Given the description of an element on the screen output the (x, y) to click on. 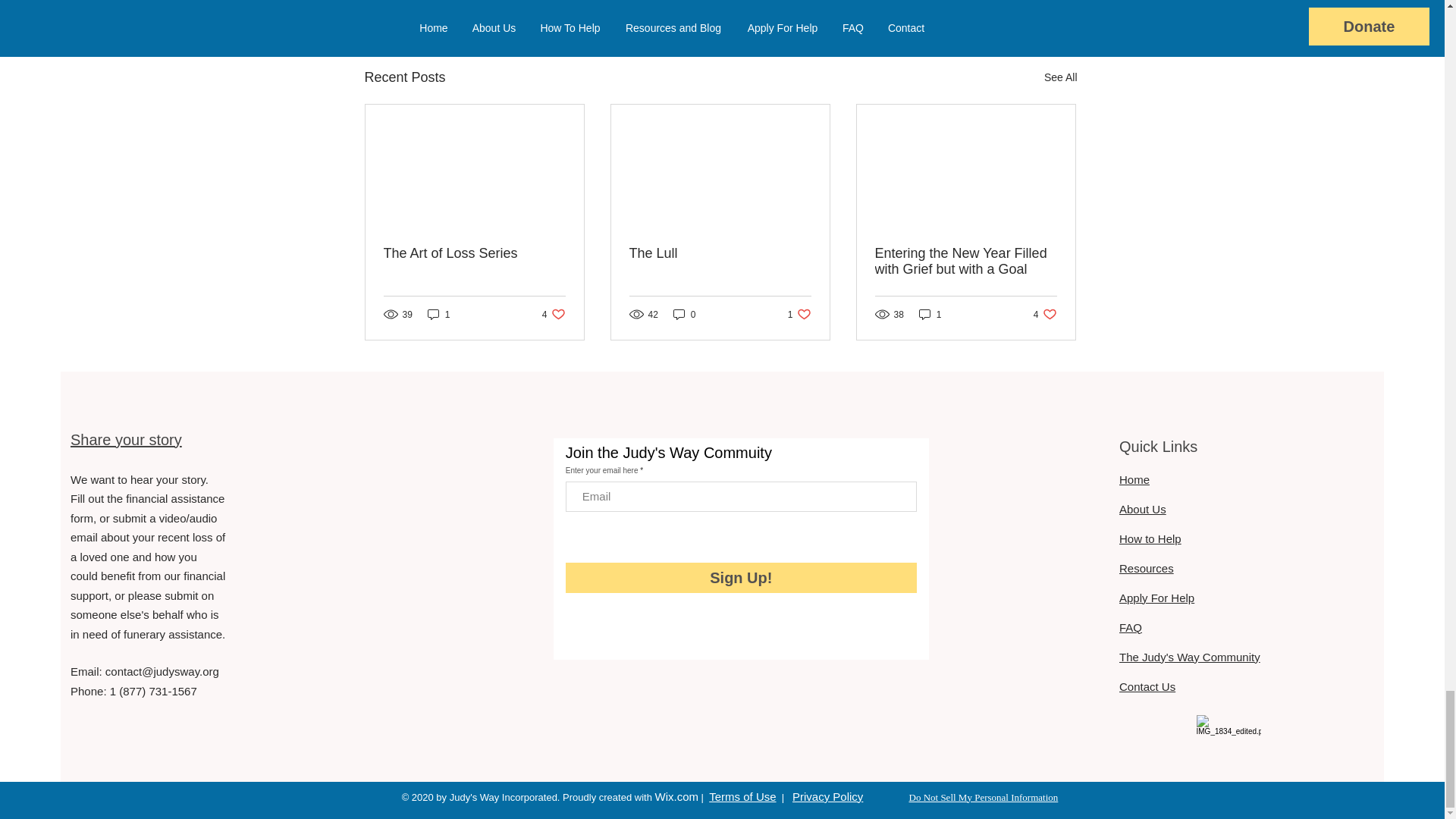
Sign Up! (741, 577)
About Us (1142, 508)
The Judy's Way Community (1045, 314)
See All (553, 314)
Entering the New Year Filled with Grief but with a Goal (988, 1)
How to Help (1189, 656)
The Art of Loss Series (1060, 77)
FAQ (966, 261)
Share your story (1149, 538)
1 (475, 253)
Apply For Help (1130, 626)
